Given the description of an element on the screen output the (x, y) to click on. 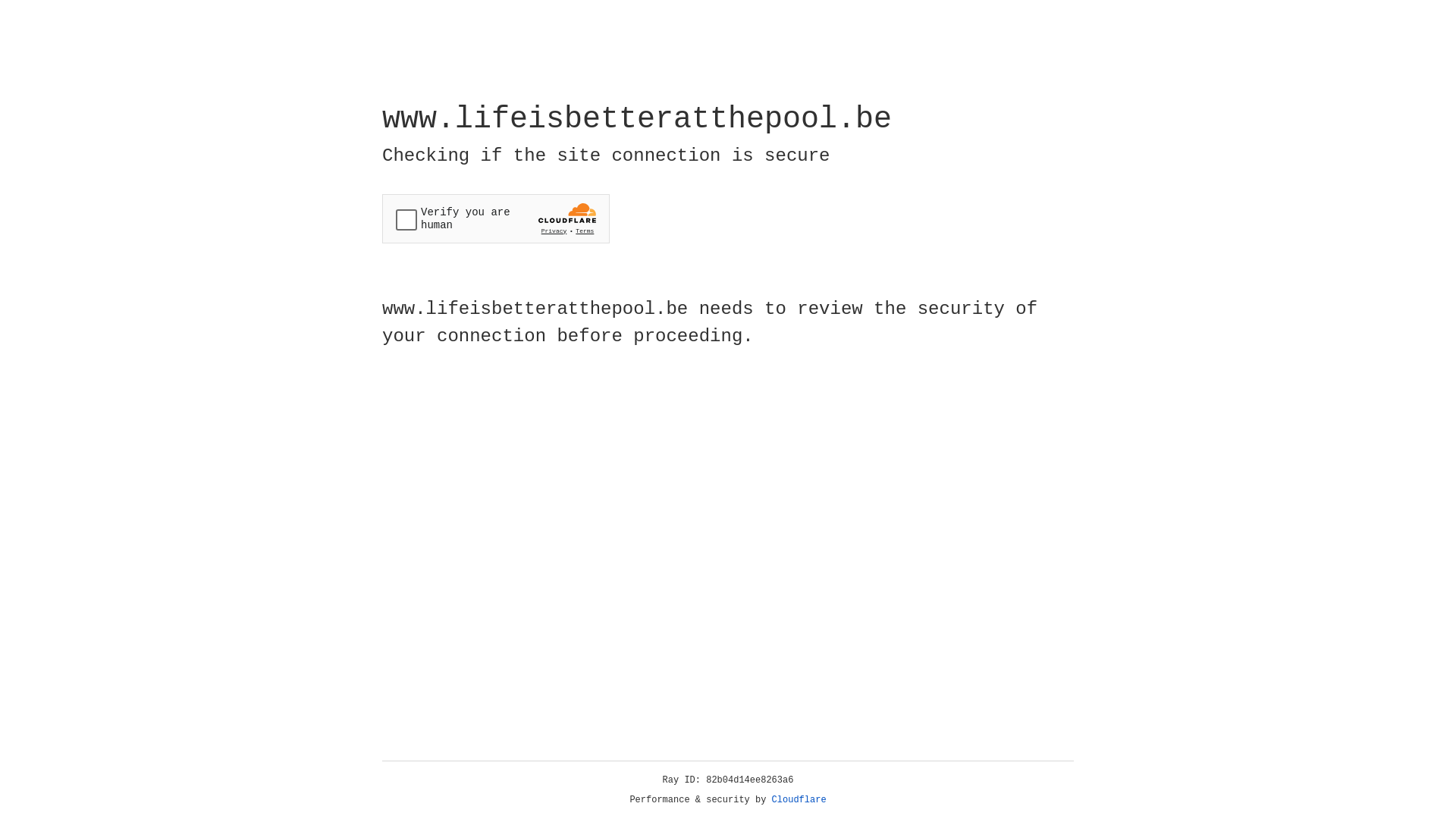
Widget containing a Cloudflare security challenge Element type: hover (495, 218)
Cloudflare Element type: text (798, 799)
